Given the description of an element on the screen output the (x, y) to click on. 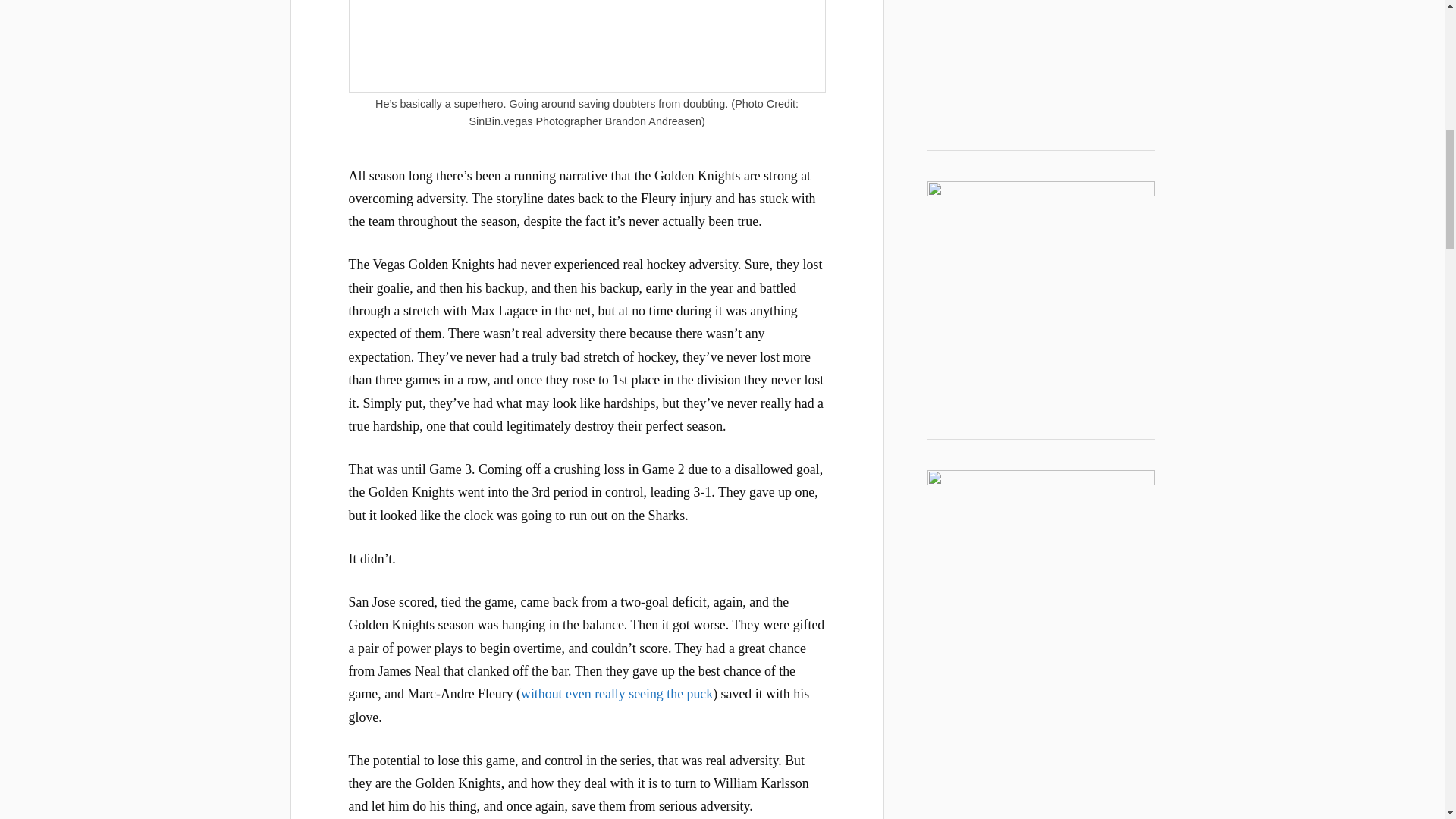
without even really seeing the puck (617, 693)
